Given the description of an element on the screen output the (x, y) to click on. 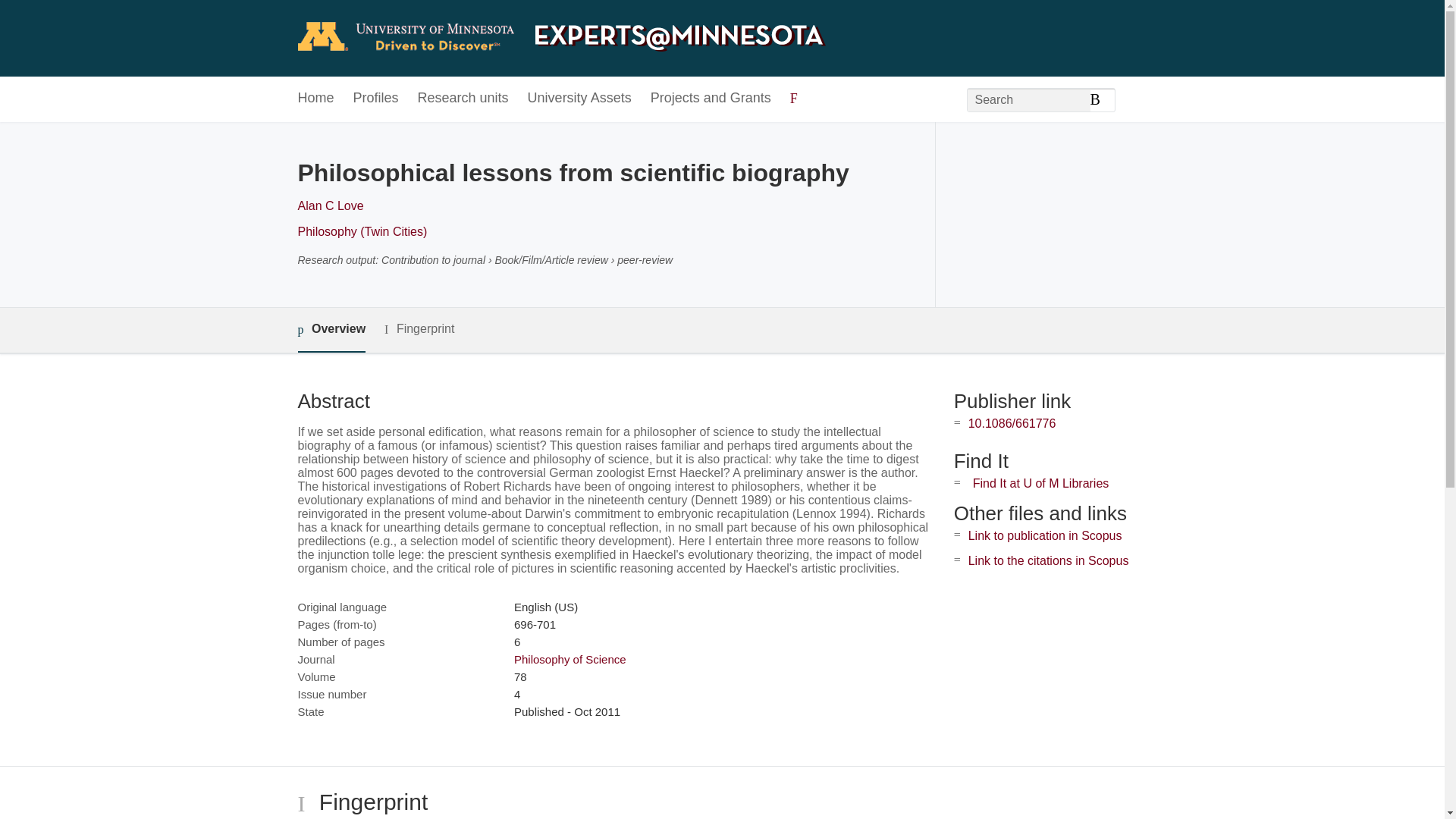
University Assets (579, 98)
Link to publication in Scopus (1045, 535)
Profiles (375, 98)
Link to the citations in Scopus (1048, 560)
Alan C Love (329, 205)
Projects and Grants (710, 98)
Philosophy of Science (569, 658)
Find It at U of M Libraries (1040, 482)
Research units (462, 98)
